Given the description of an element on the screen output the (x, y) to click on. 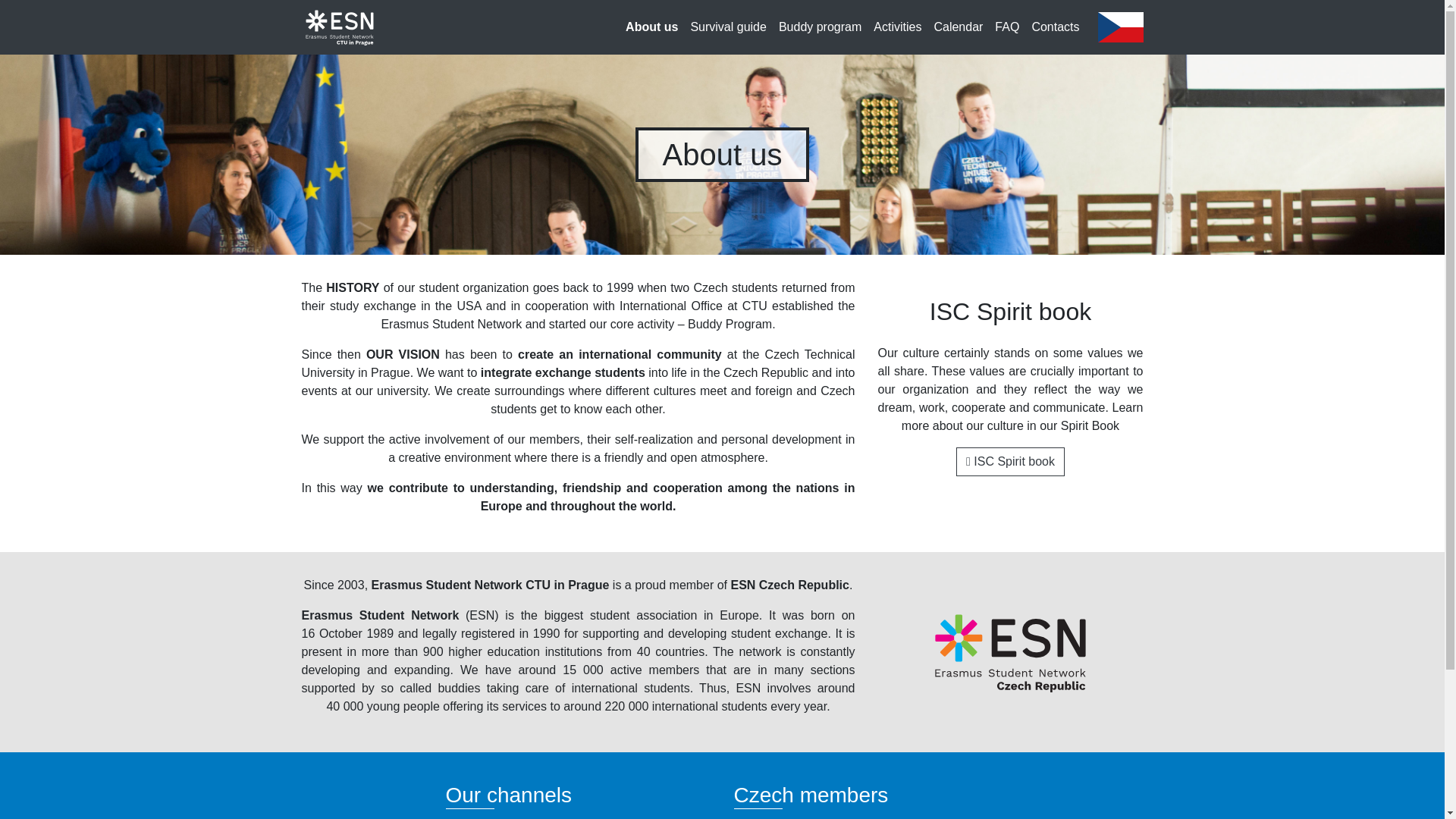
Buddy program (820, 27)
Calendar (957, 27)
FAQ (1006, 27)
Facebook (481, 818)
 ISC Spirit book (1010, 461)
Contacts (1054, 27)
Survival guide (728, 27)
About us (652, 27)
Activities (897, 27)
